Given the description of an element on the screen output the (x, y) to click on. 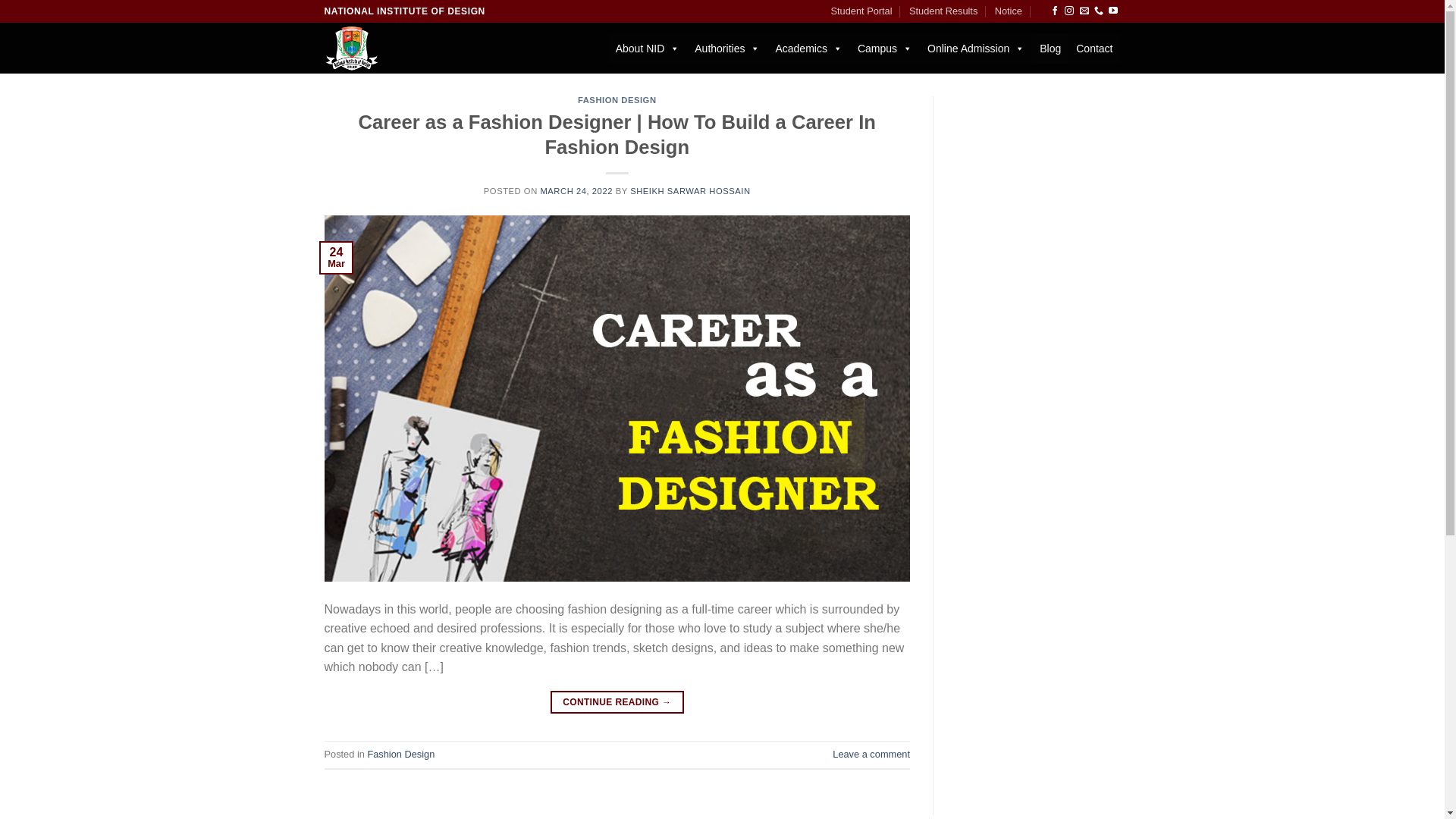
Leave a comment Element type: text (871, 753)
Authorities Element type: text (727, 48)
National Institute of design - Creators Destination Element type: hover (382, 47)
Blog Element type: text (1050, 48)
Notice Element type: text (1008, 11)
Fashion Design Element type: text (400, 753)
Contact Element type: text (1094, 48)
FASHION DESIGN Element type: text (616, 99)
Student Results Element type: text (943, 11)
Academics Element type: text (808, 48)
Campus Element type: text (884, 48)
Student Portal Element type: text (860, 11)
Online Admission Element type: text (975, 48)
About NID Element type: text (647, 48)
SHEIKH SARWAR HOSSAIN Element type: text (689, 190)
MARCH 24, 2022 Element type: text (575, 190)
